Given the description of an element on the screen output the (x, y) to click on. 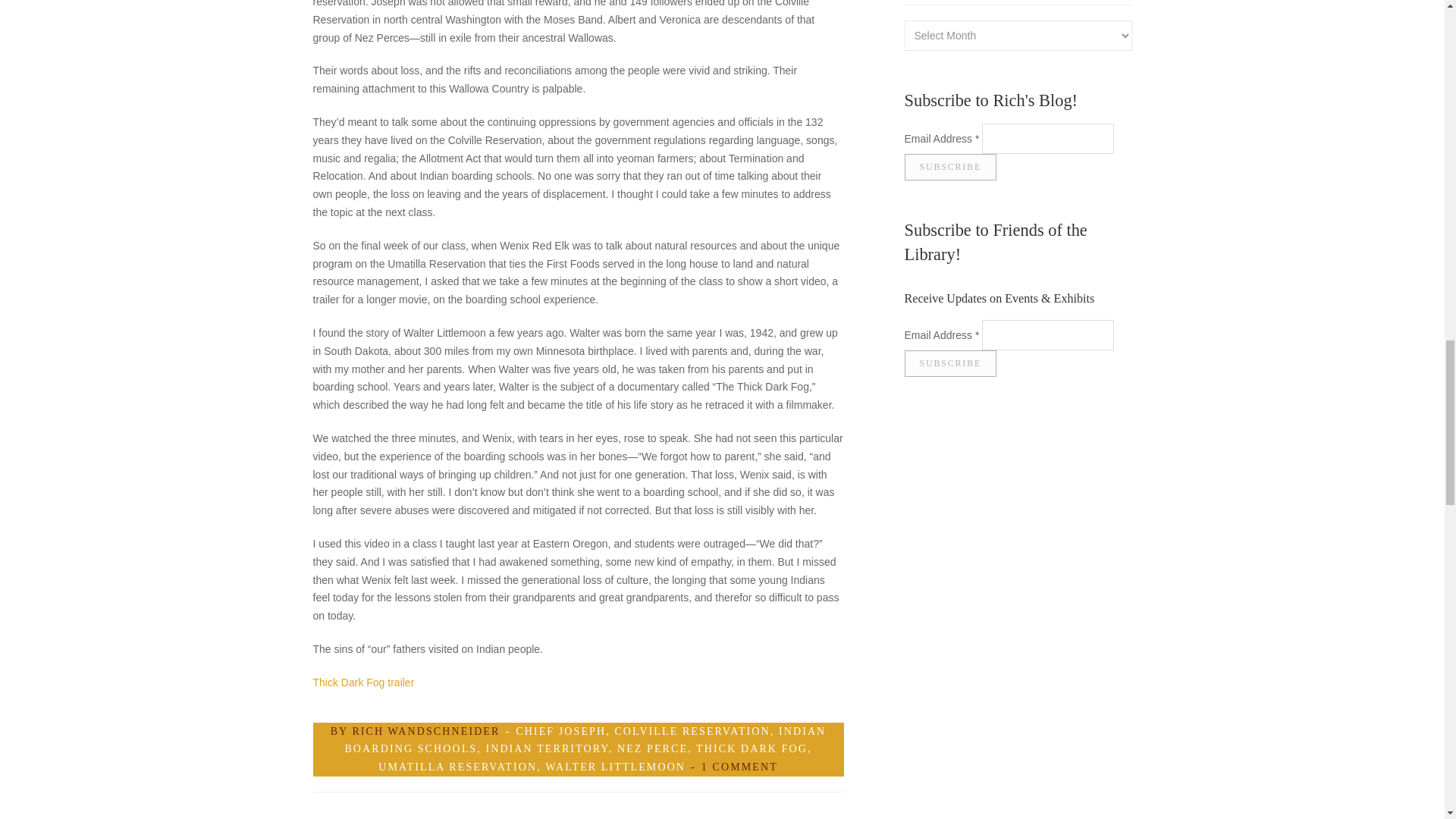
Subscribe (949, 166)
Subscribe (949, 363)
